Given the description of an element on the screen output the (x, y) to click on. 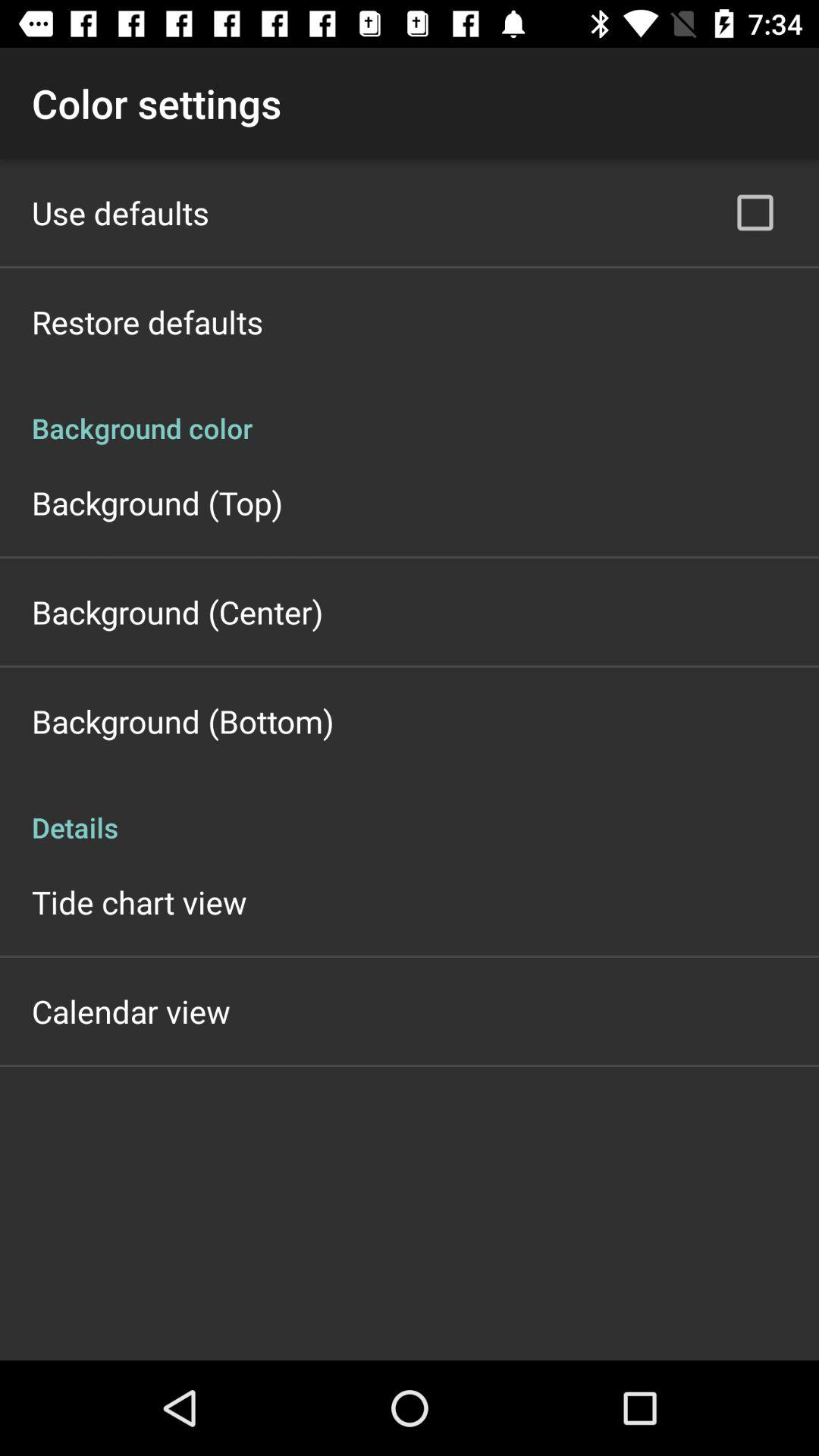
turn off the calendar view app (130, 1010)
